Given the description of an element on the screen output the (x, y) to click on. 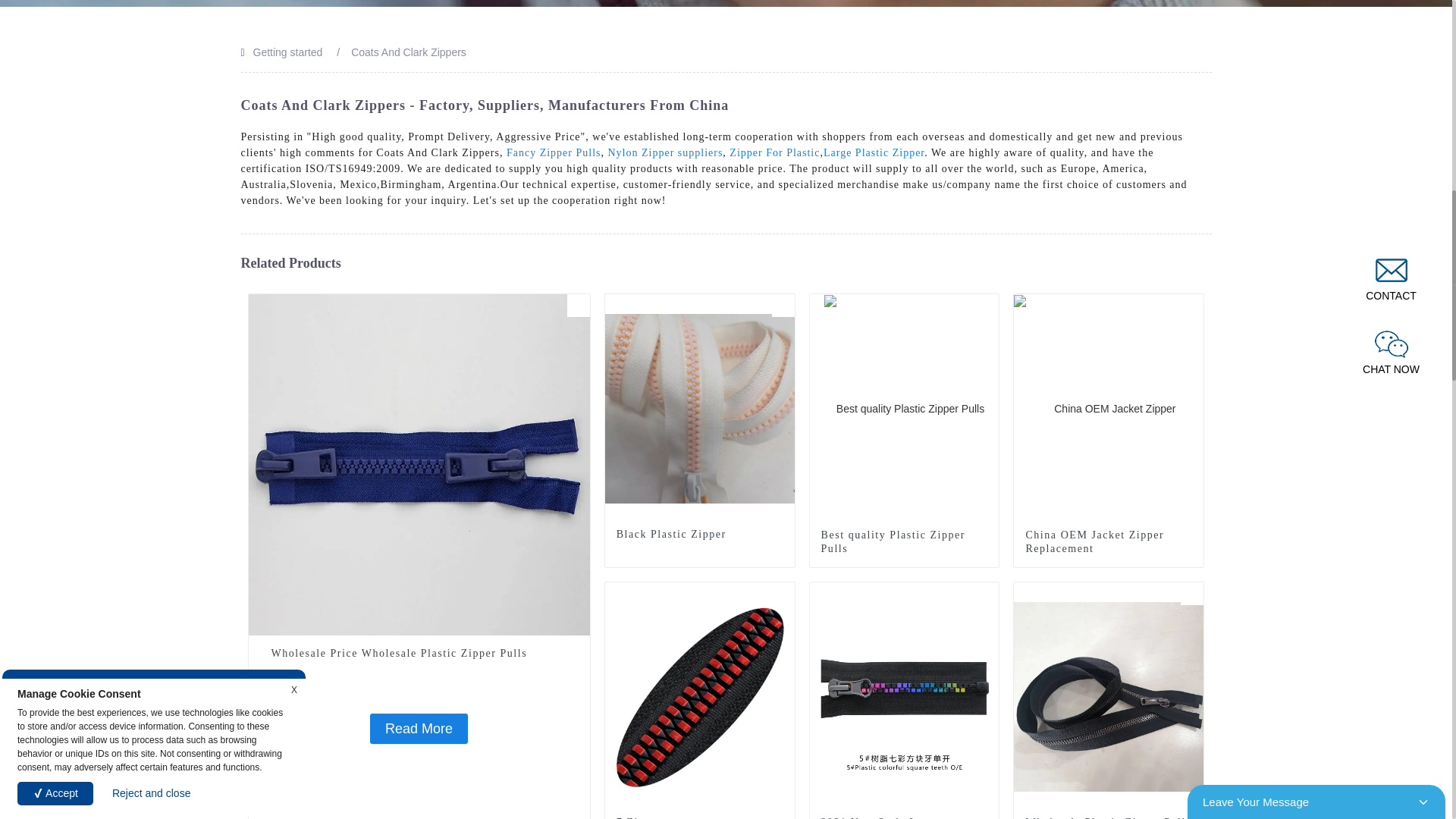
Wholesale Price Wholesale Plastic Zipper Pulls (418, 463)
Fancy Zipper Pulls (553, 152)
Wholesale Price Wholesale Plastic Zipper Pulls (578, 305)
Zipper For Plastic (774, 152)
Wholesale Price Wholesale Plastic Zipper Pulls (418, 728)
Black Plastic Zipper (699, 408)
Wholesale Price Wholesale Plastic Zipper Pulls (418, 653)
Large Plastic Zipper (874, 152)
Nylon Zipper suppliers (664, 152)
